Given the description of an element on the screen output the (x, y) to click on. 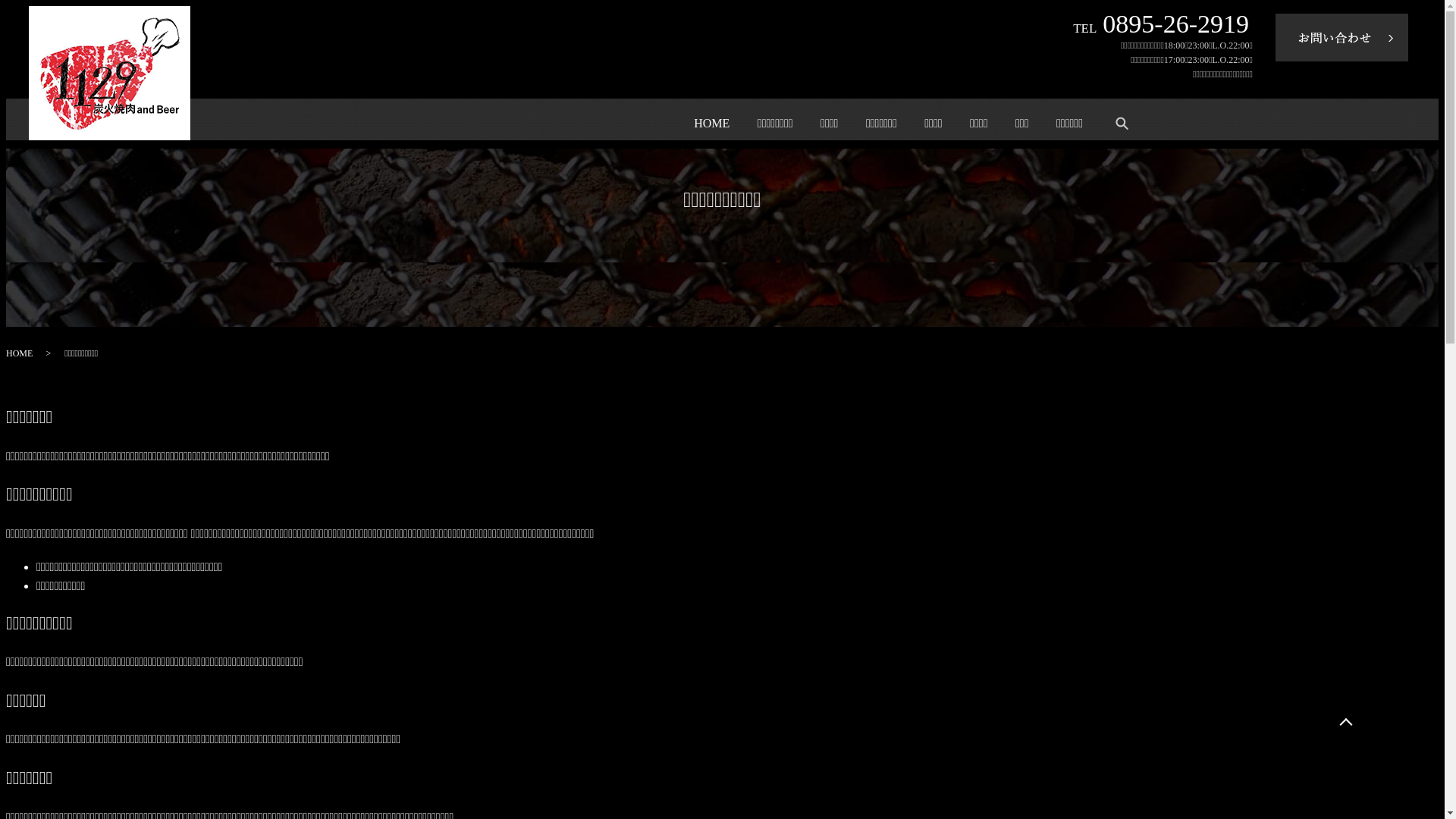
HOME Element type: text (711, 122)
HOME Element type: text (19, 353)
search Element type: text (1121, 123)
